Given the description of an element on the screen output the (x, y) to click on. 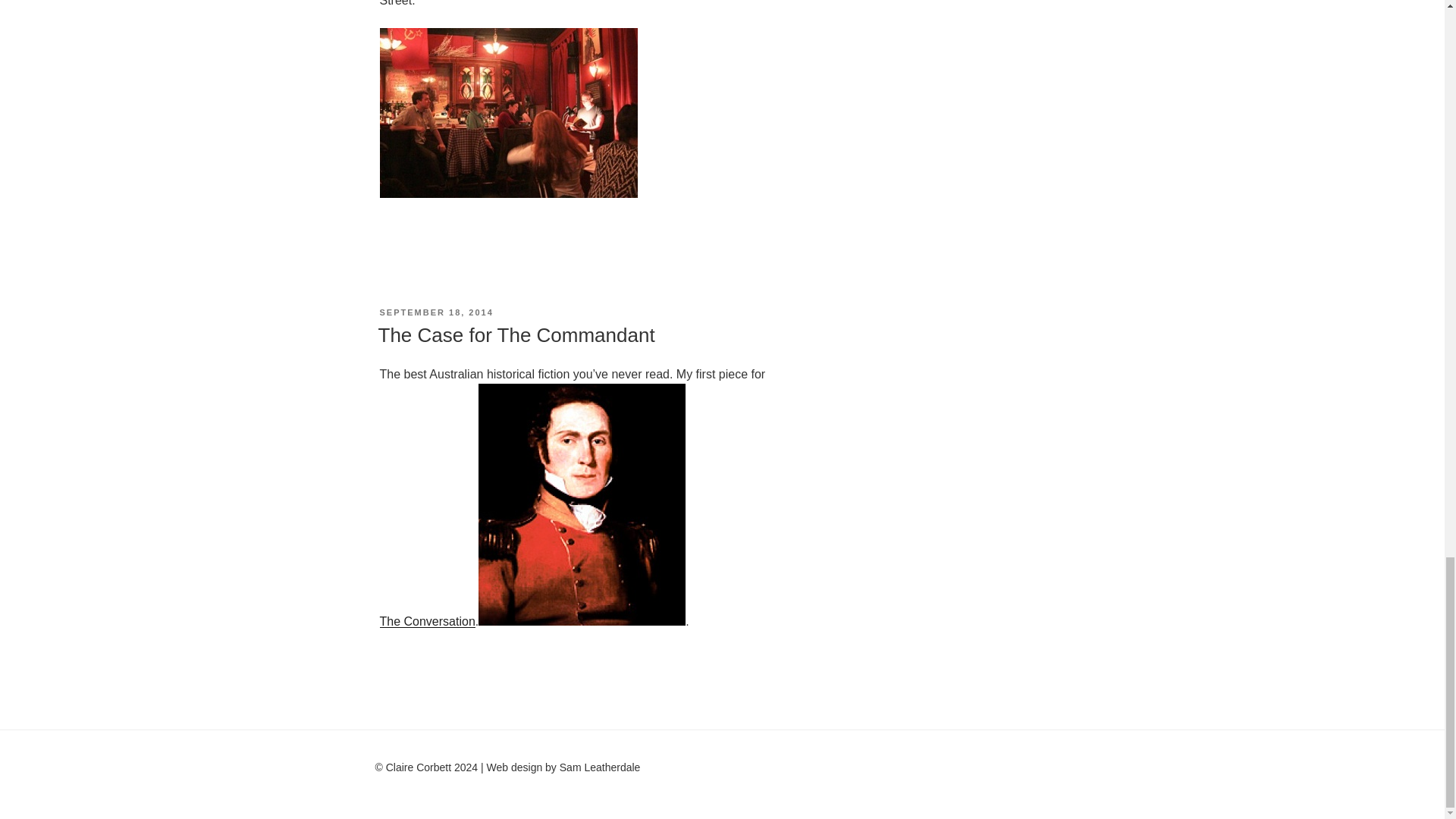
The Case for The Commandant (515, 334)
The Conversation (426, 621)
SEPTEMBER 18, 2014 (435, 311)
